Given the description of an element on the screen output the (x, y) to click on. 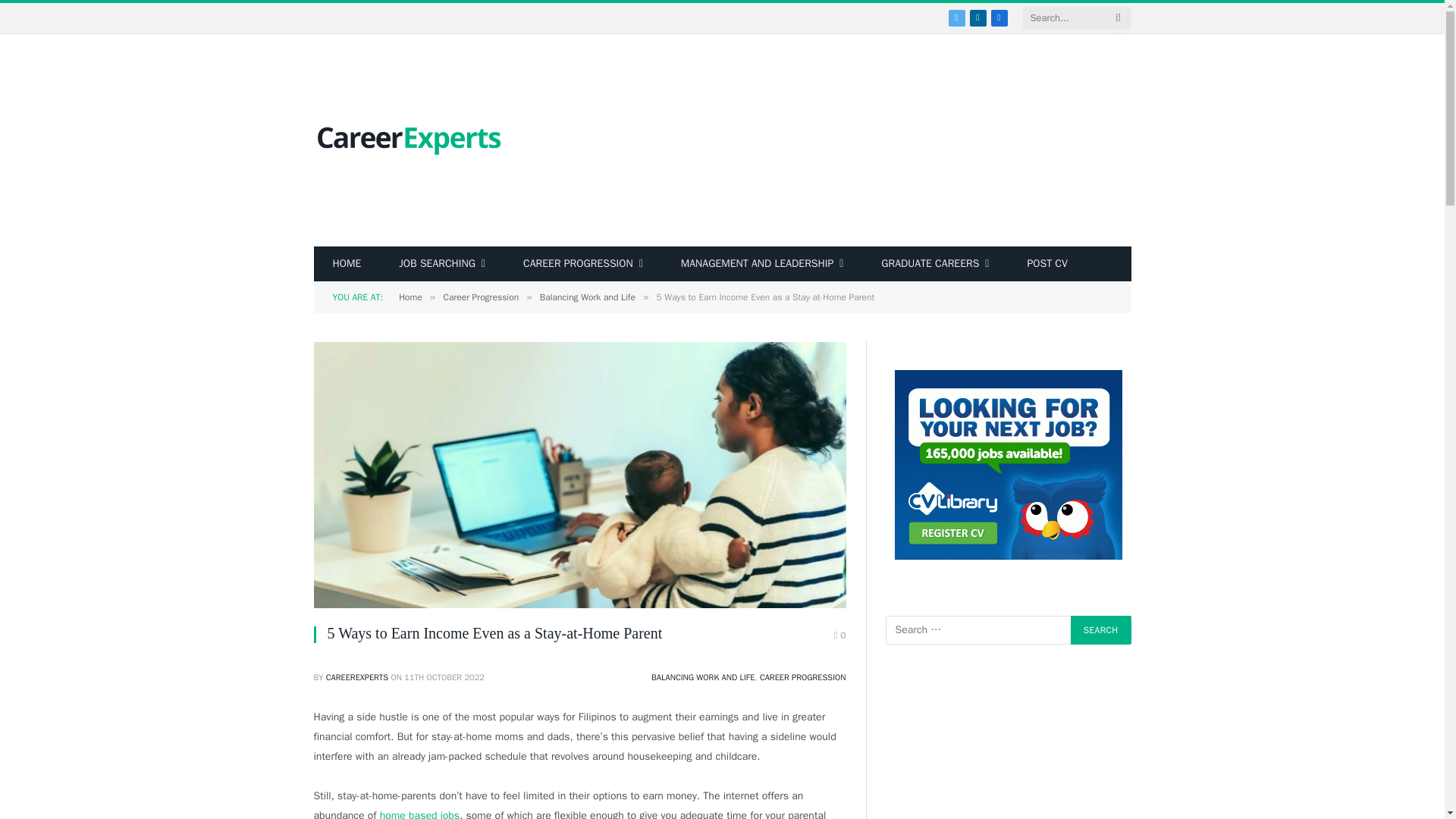
Advertisement (854, 140)
Twitter (955, 17)
HOME (347, 263)
Career Experts (408, 140)
Facebook (998, 17)
Search (1100, 629)
LinkedIn (977, 17)
MANAGEMENT AND LEADERSHIP (762, 263)
JOB SEARCHING (441, 263)
Home (347, 263)
CAREER PROGRESSION (582, 263)
Search (1100, 629)
